Given the description of an element on the screen output the (x, y) to click on. 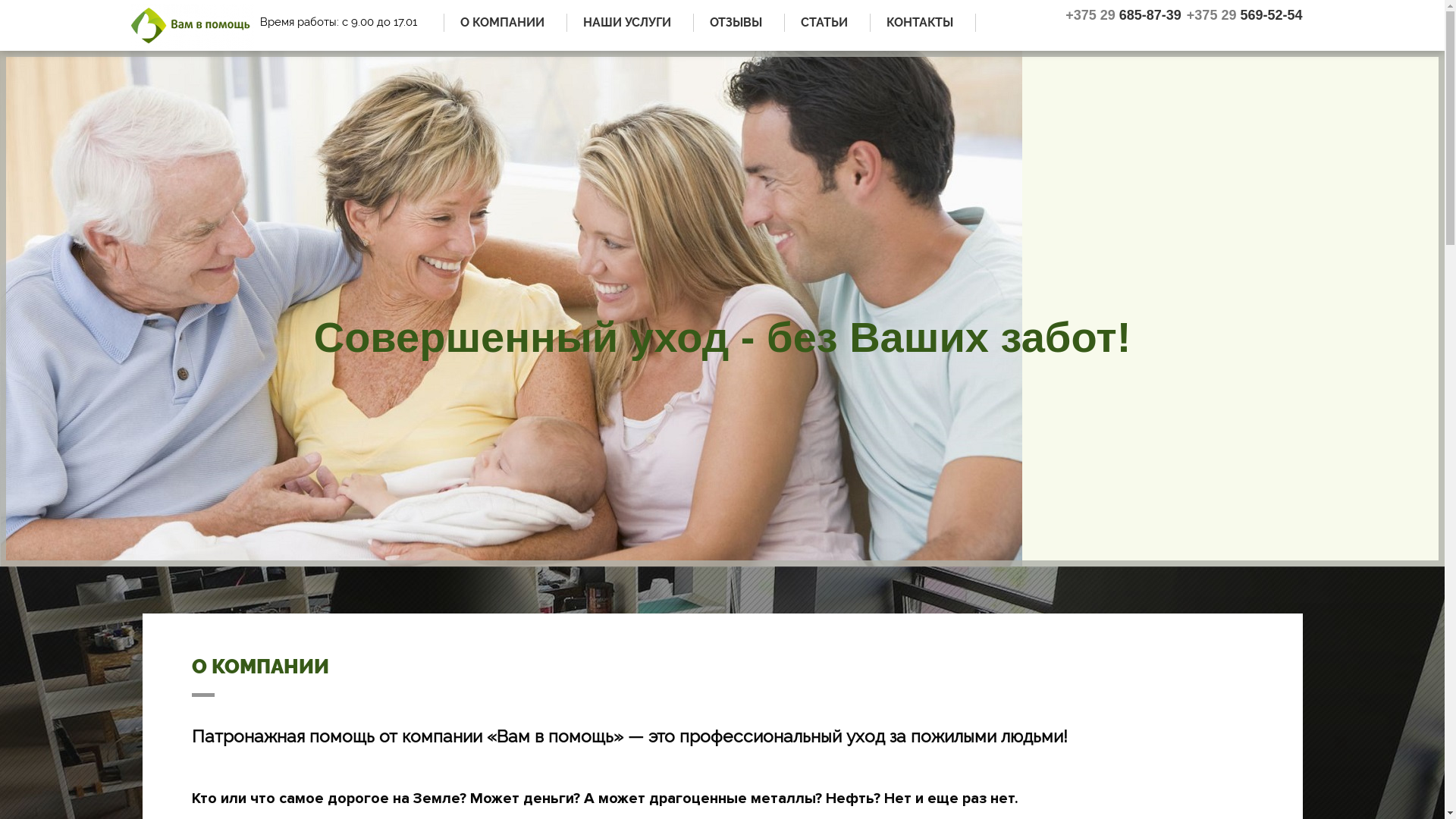
+375 29 569-52-54 Element type: text (1241, 14)
+375 29 685-87-39 Element type: text (1120, 14)
